Given the description of an element on the screen output the (x, y) to click on. 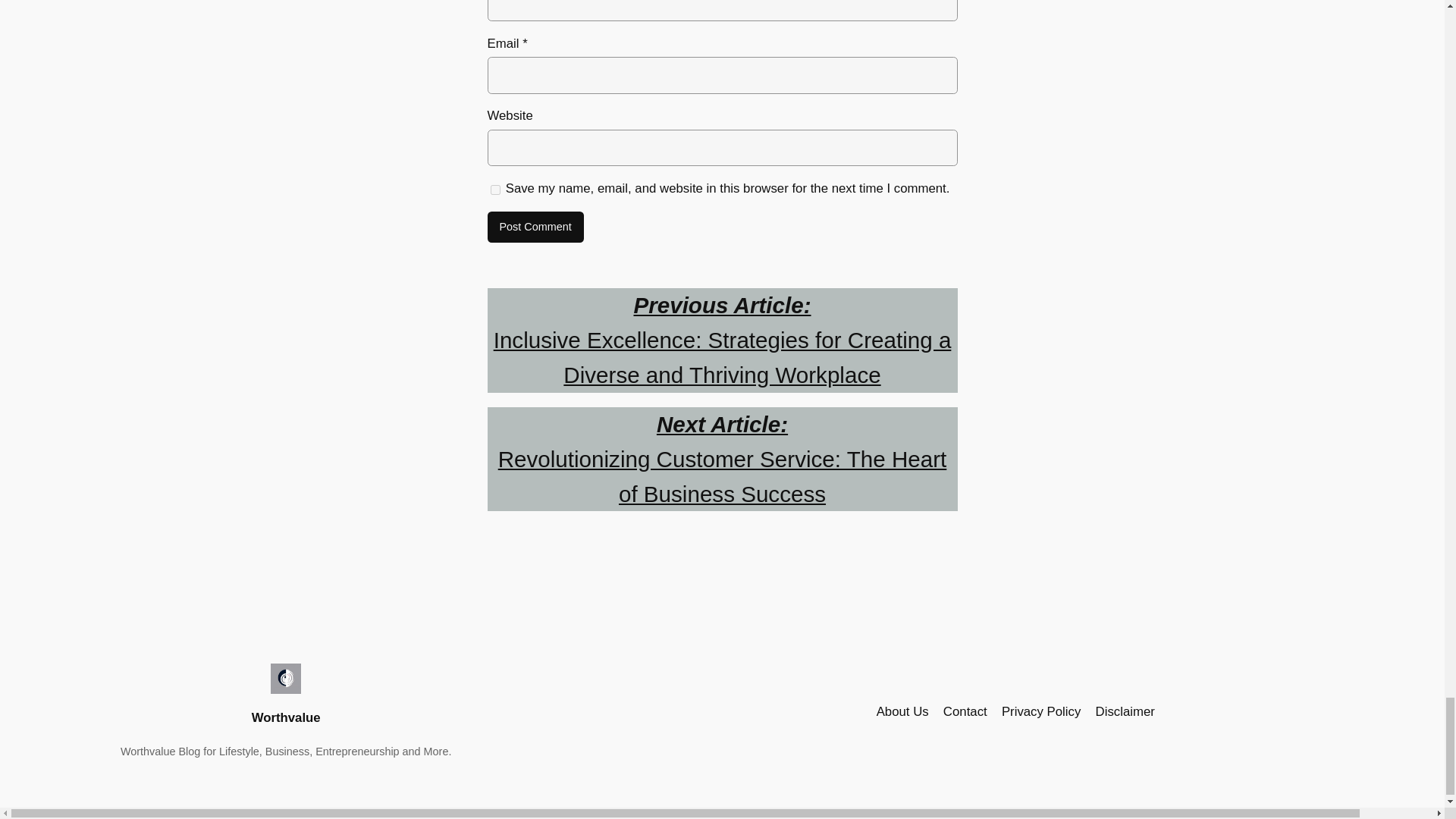
Privacy Policy (1040, 711)
About Us (902, 711)
Contact (965, 711)
Post Comment (534, 227)
Worthvalue (285, 717)
Post Comment (534, 227)
